Given the description of an element on the screen output the (x, y) to click on. 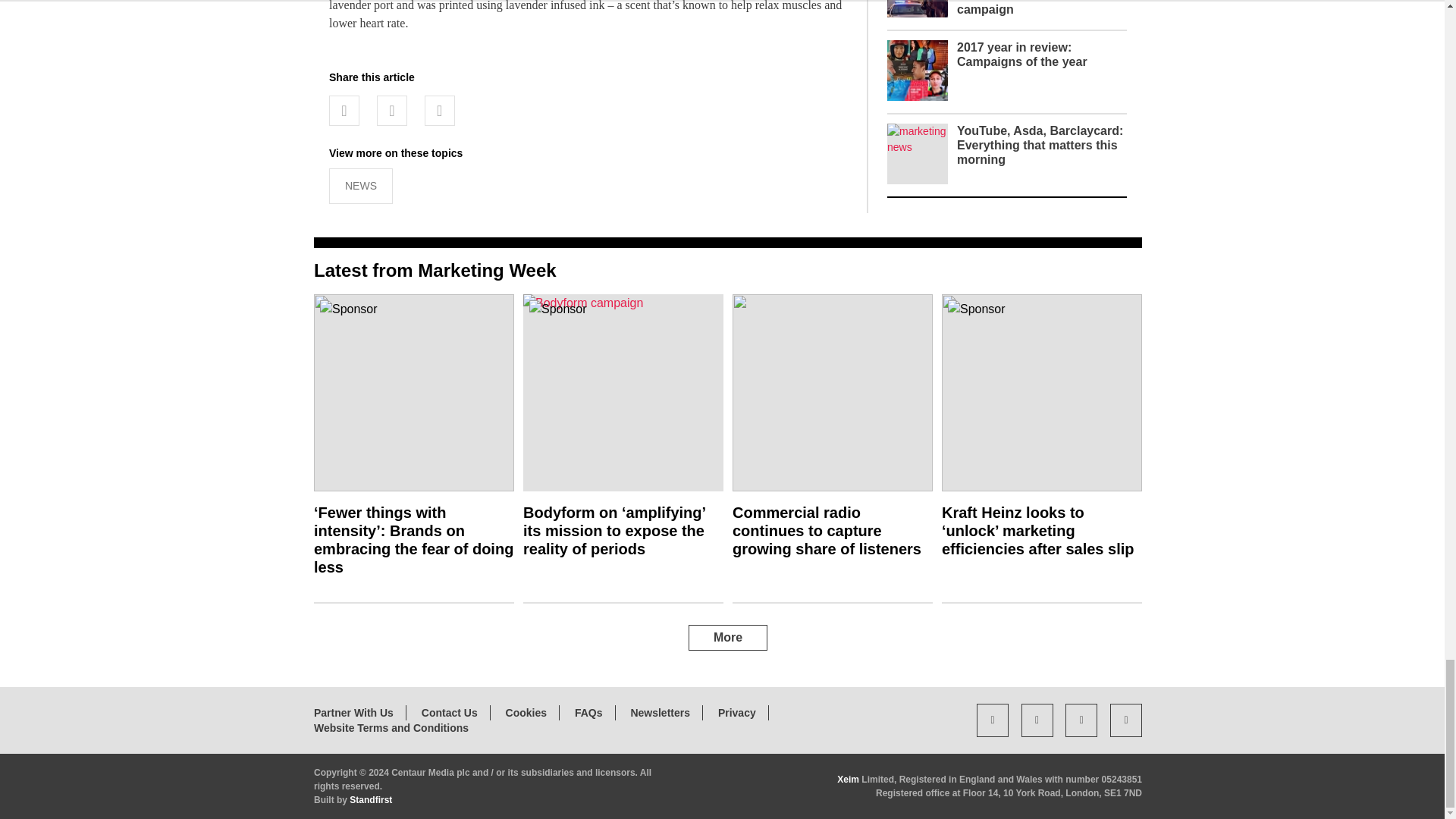
Privacy (736, 712)
NEWS (361, 185)
